Given the description of an element on the screen output the (x, y) to click on. 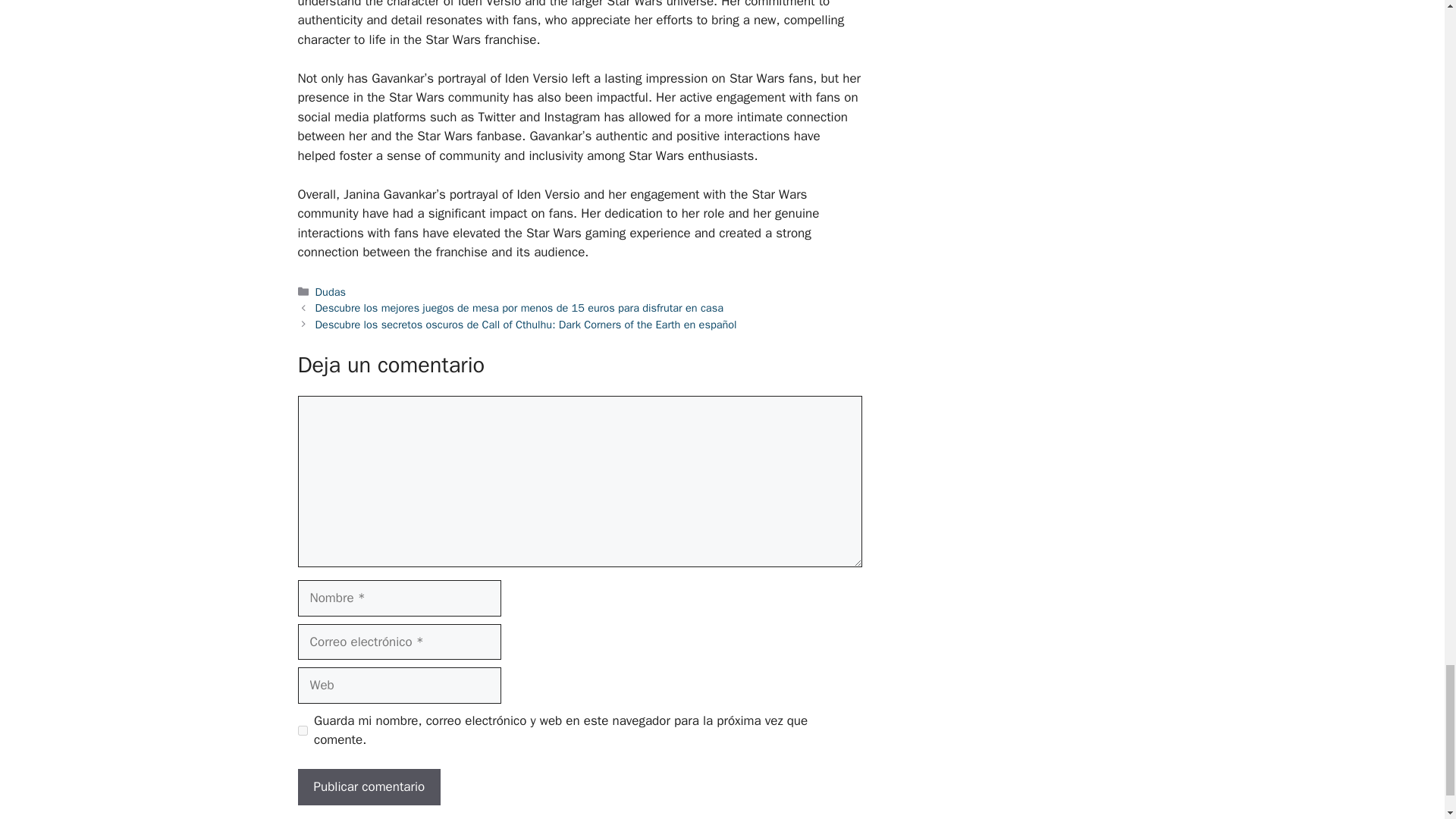
Dudas (330, 291)
Publicar comentario (369, 787)
Publicar comentario (369, 787)
yes (302, 730)
